Given the description of an element on the screen output the (x, y) to click on. 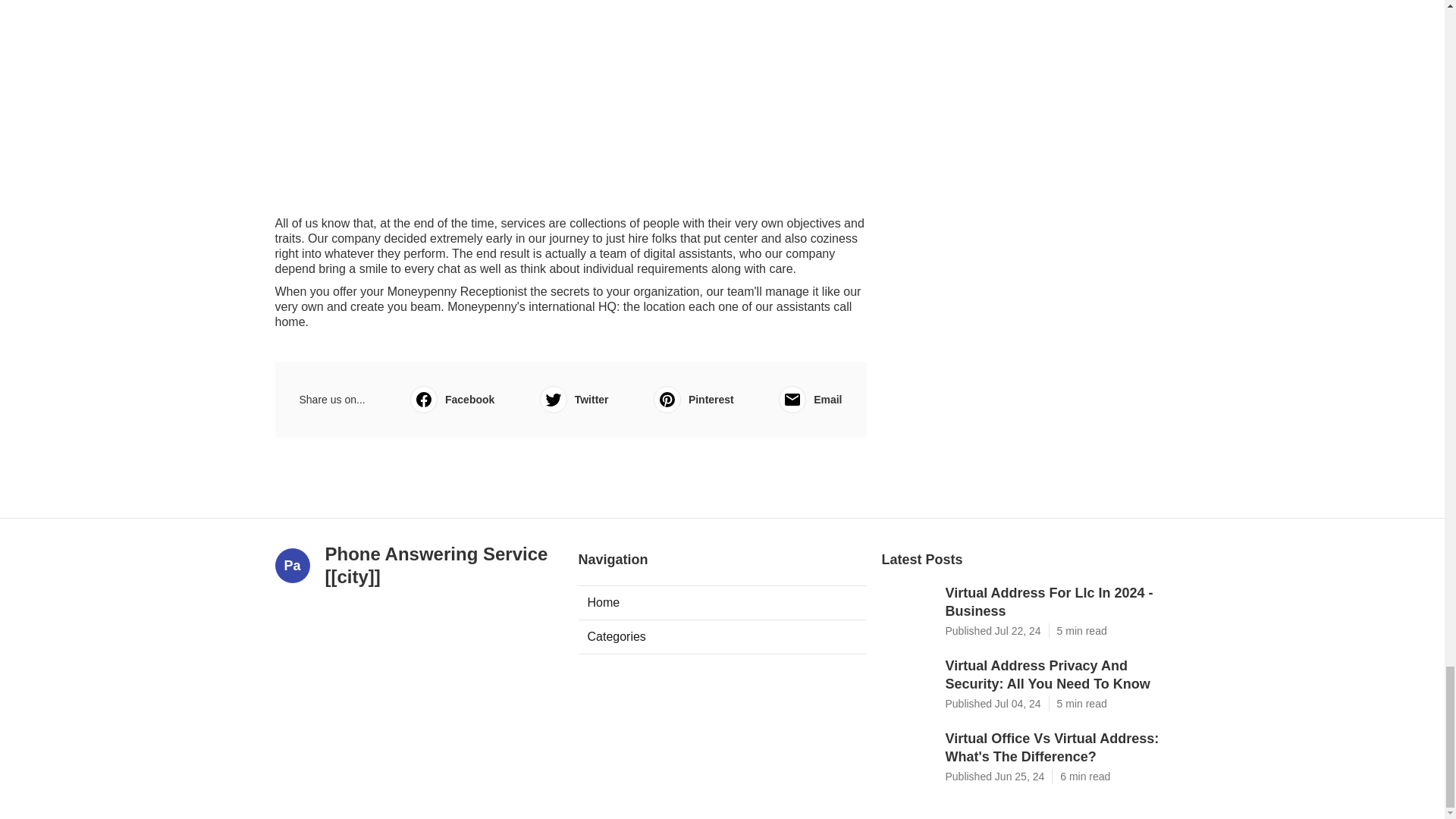
Twitter (574, 399)
Pinterest (693, 399)
Facebook (452, 399)
